Given the description of an element on the screen output the (x, y) to click on. 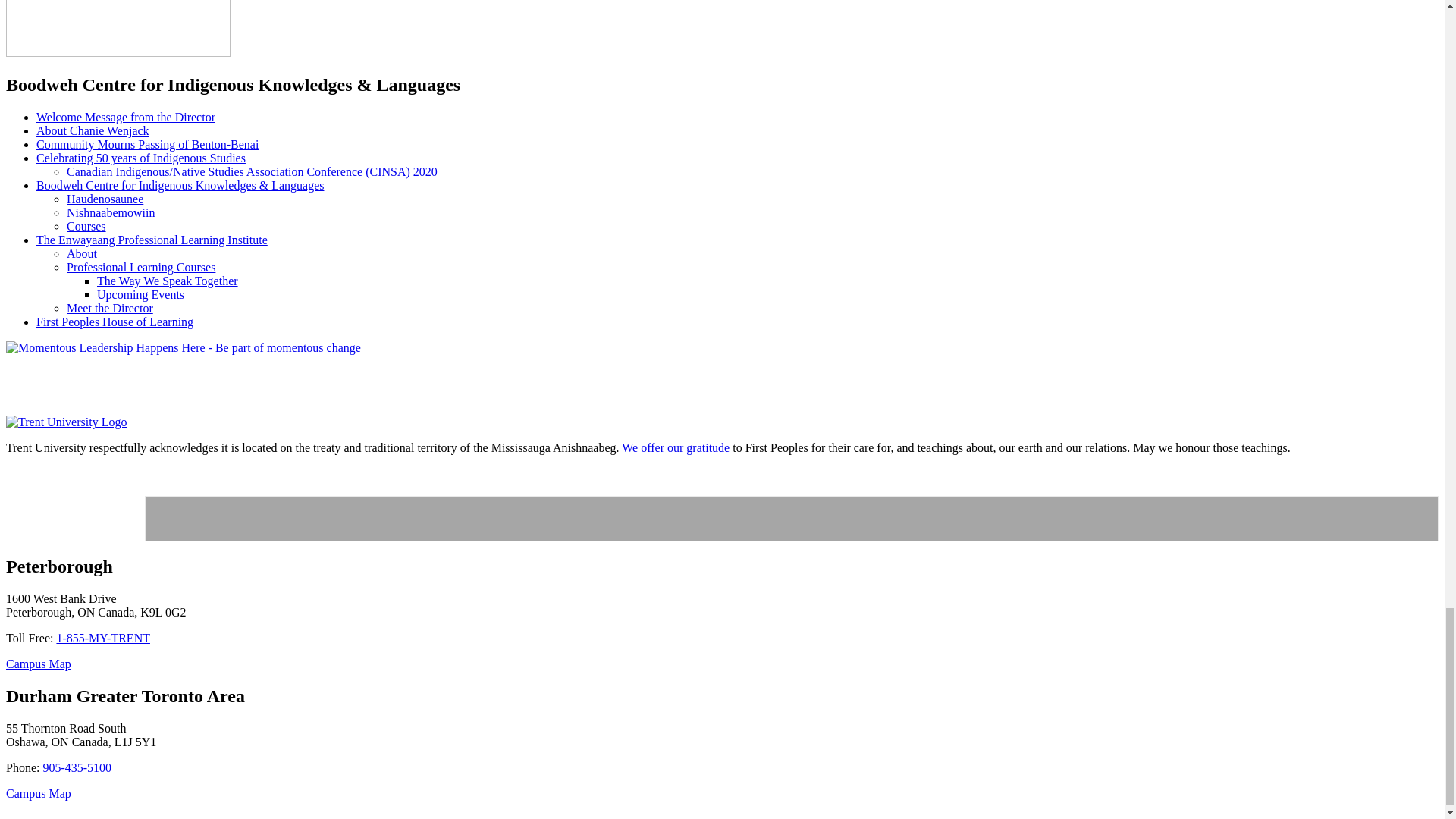
Footer link to homepage (65, 421)
